Given the description of an element on the screen output the (x, y) to click on. 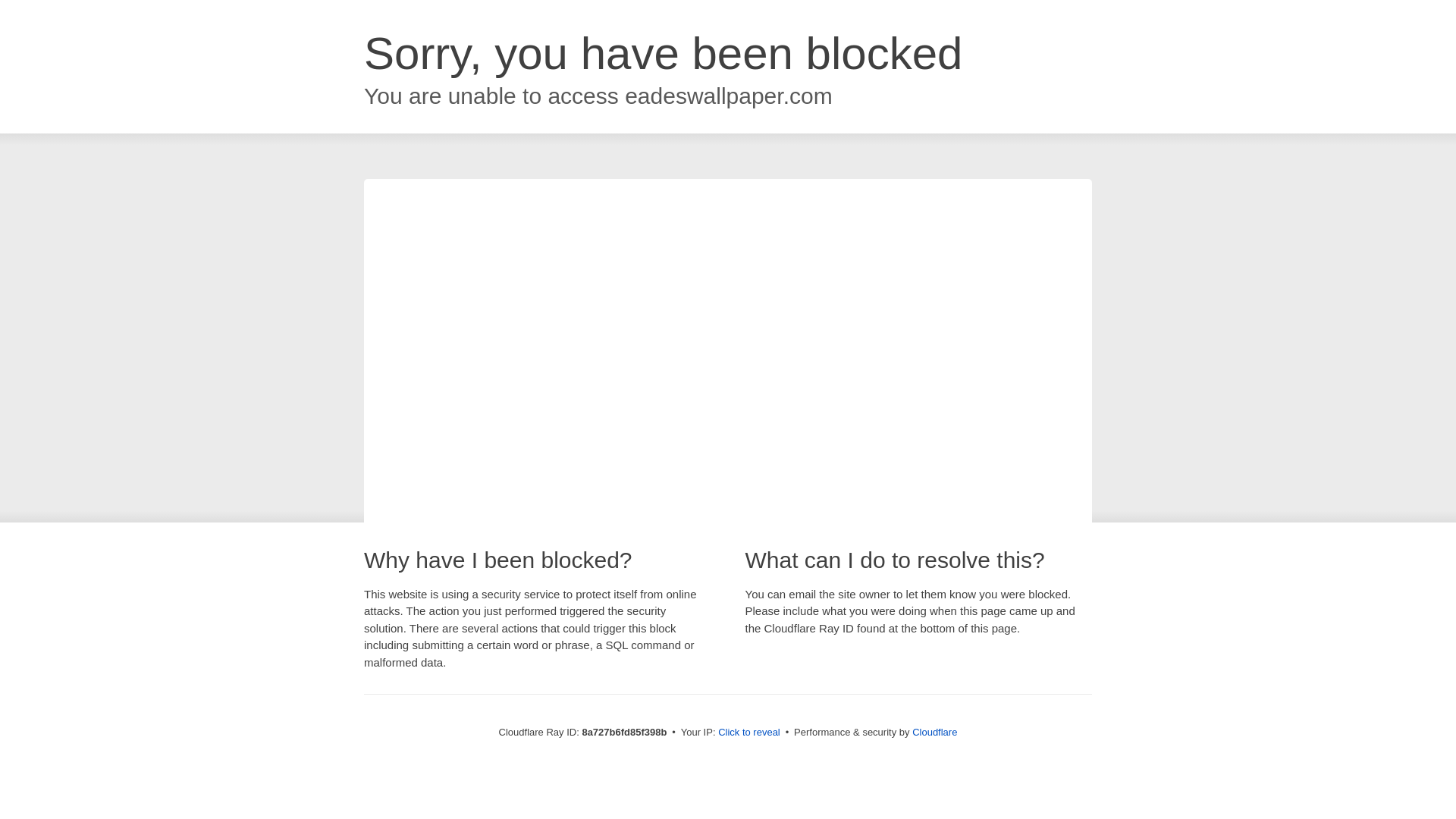
Click to reveal (748, 732)
Cloudflare (934, 731)
